Given the description of an element on the screen output the (x, y) to click on. 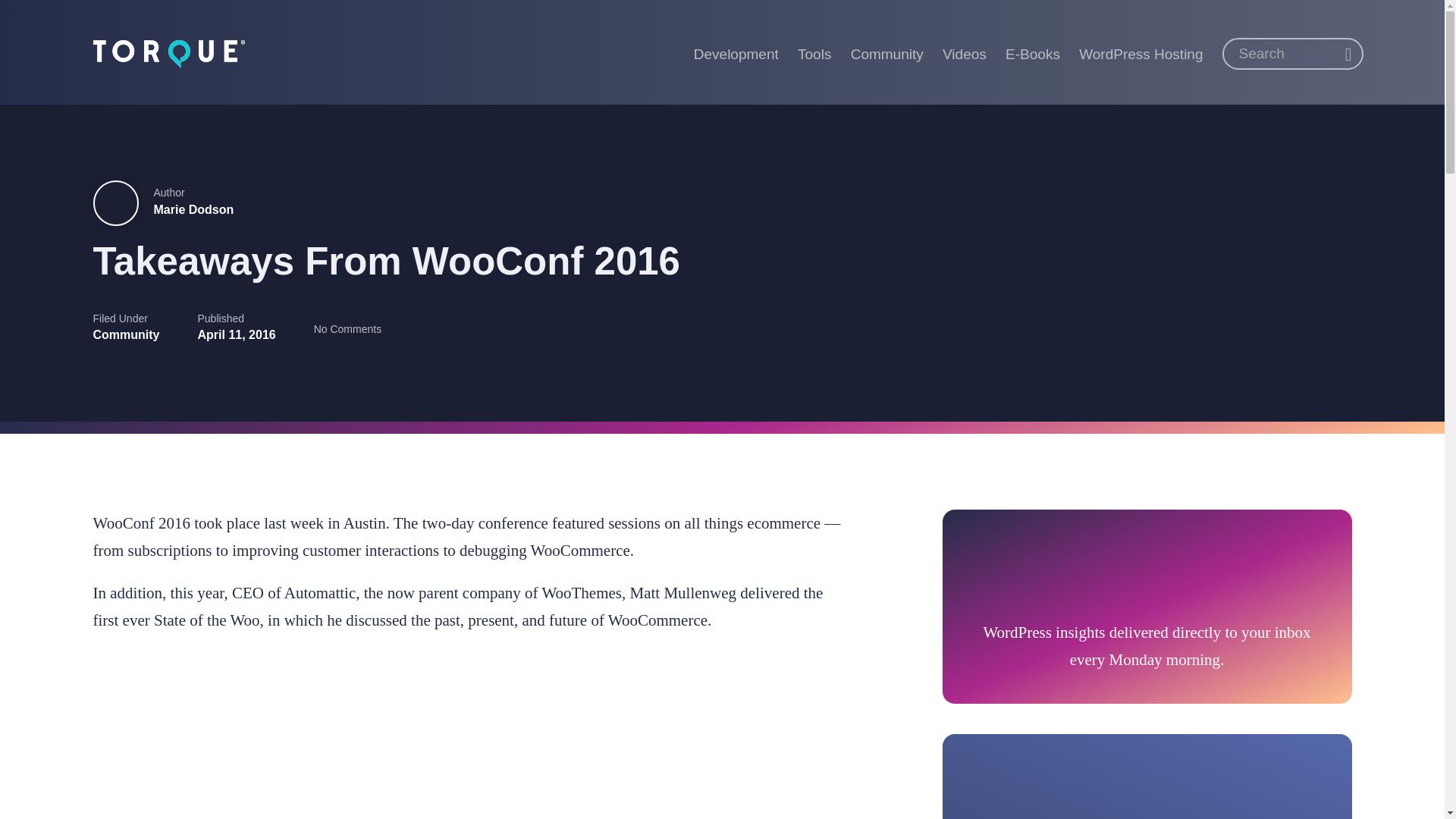
WordPress Hosting (1141, 52)
Development (736, 52)
Marie Dodson (192, 209)
Torque (168, 52)
Community (125, 334)
